Given the description of an element on the screen output the (x, y) to click on. 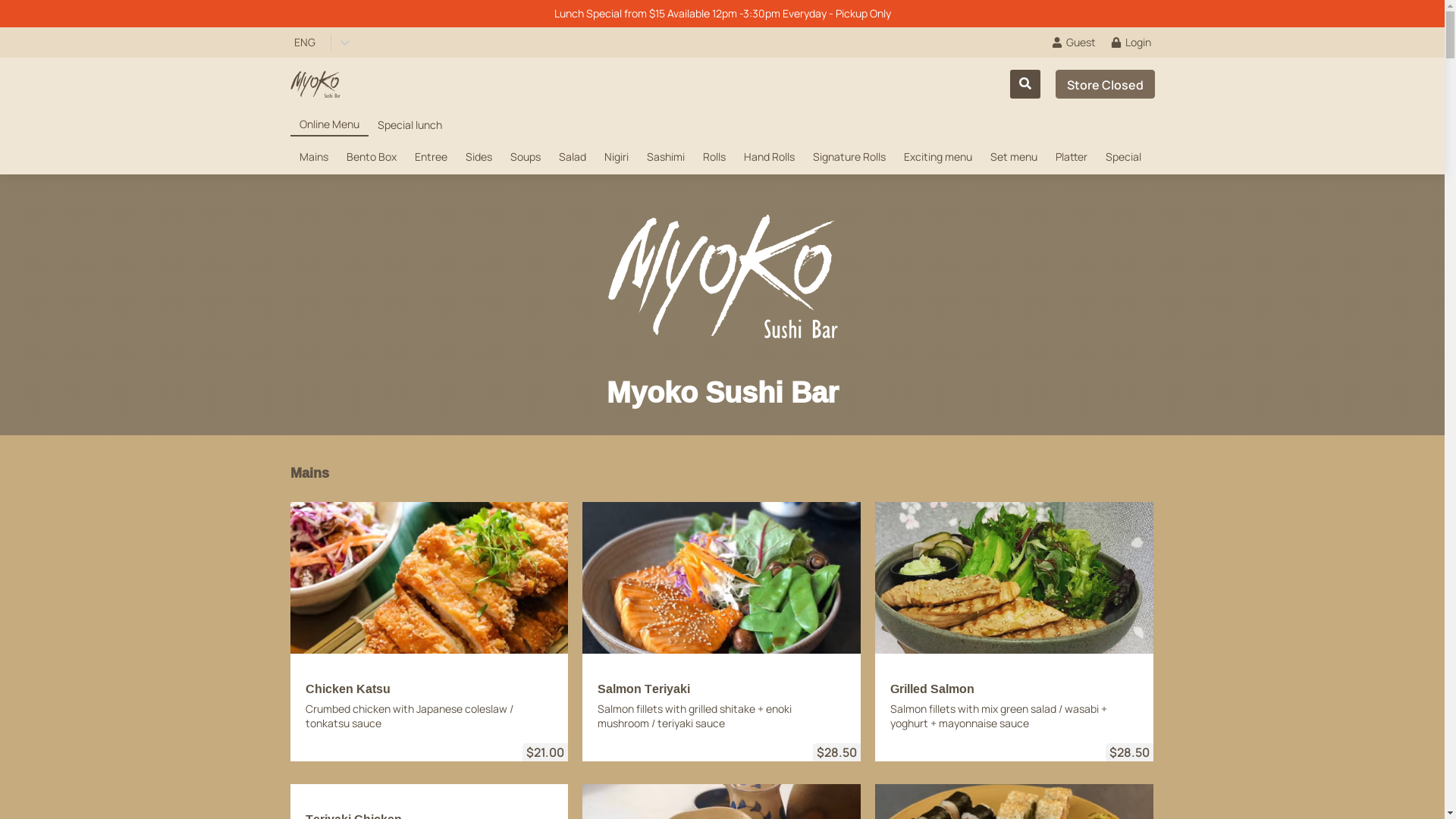
Store Closed Element type: text (1104, 83)
